Given the description of an element on the screen output the (x, y) to click on. 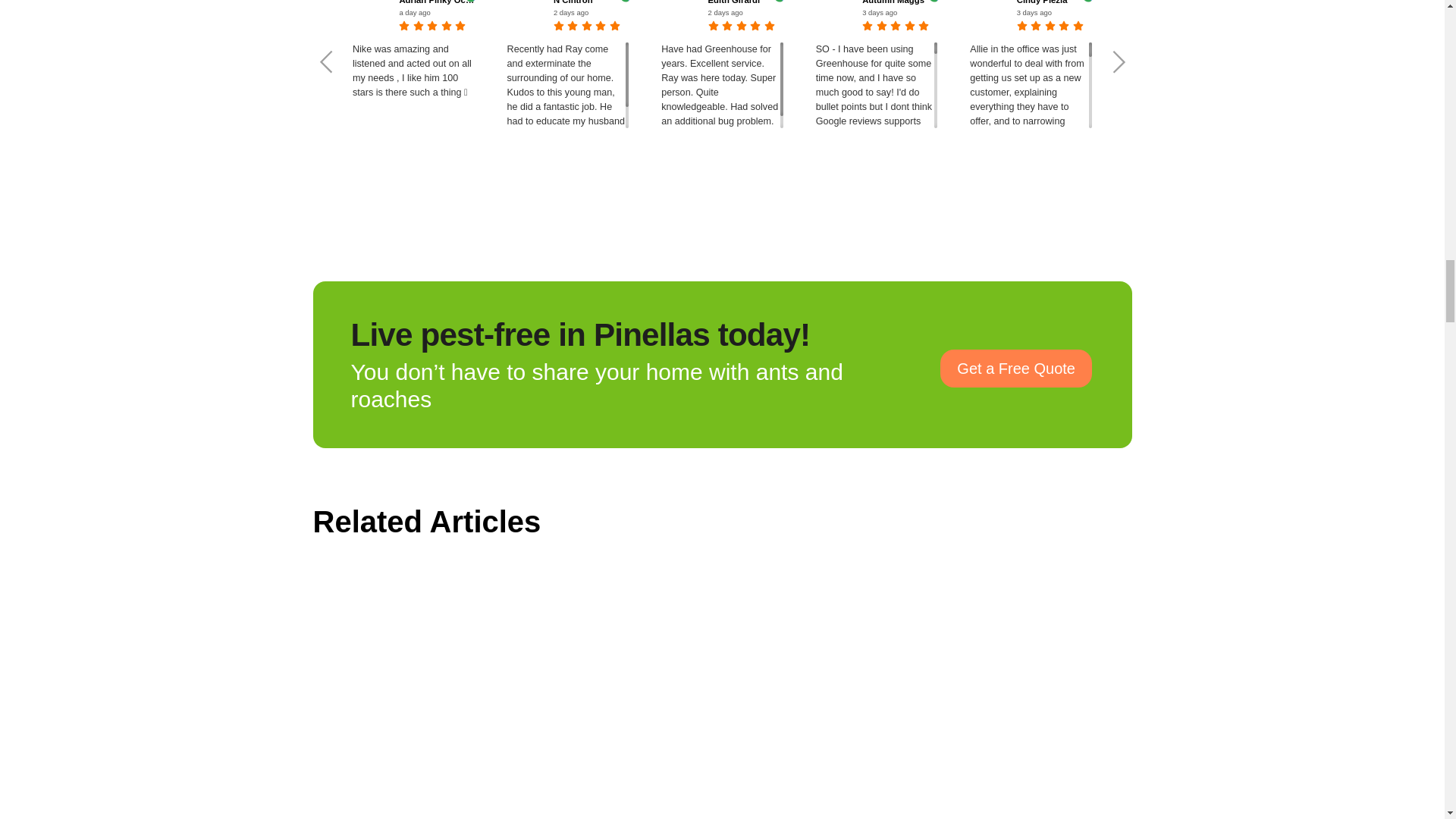
Edith Girardi (745, 2)
N Cintron (590, 2)
Cindy Plezia (1054, 2)
J Quallich (1208, 2)
Nik was great and very professional. (1339, 84)
Michele Corcoran (1362, 2)
Adrian Pinky Ocasio (436, 2)
Autumn Maggs (899, 2)
